Given the description of an element on the screen output the (x, y) to click on. 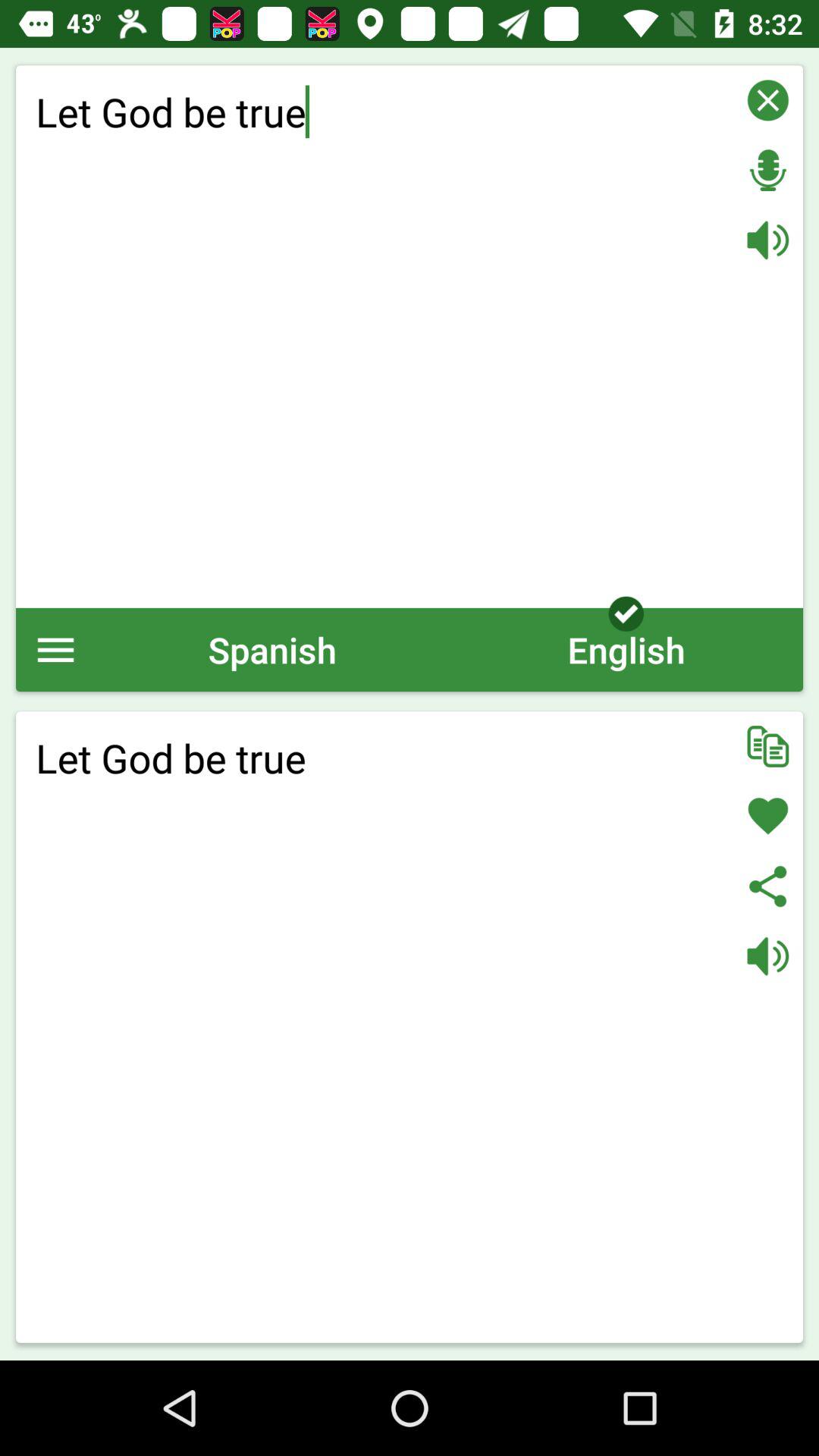
choose the item next to english (272, 649)
